Given the description of an element on the screen output the (x, y) to click on. 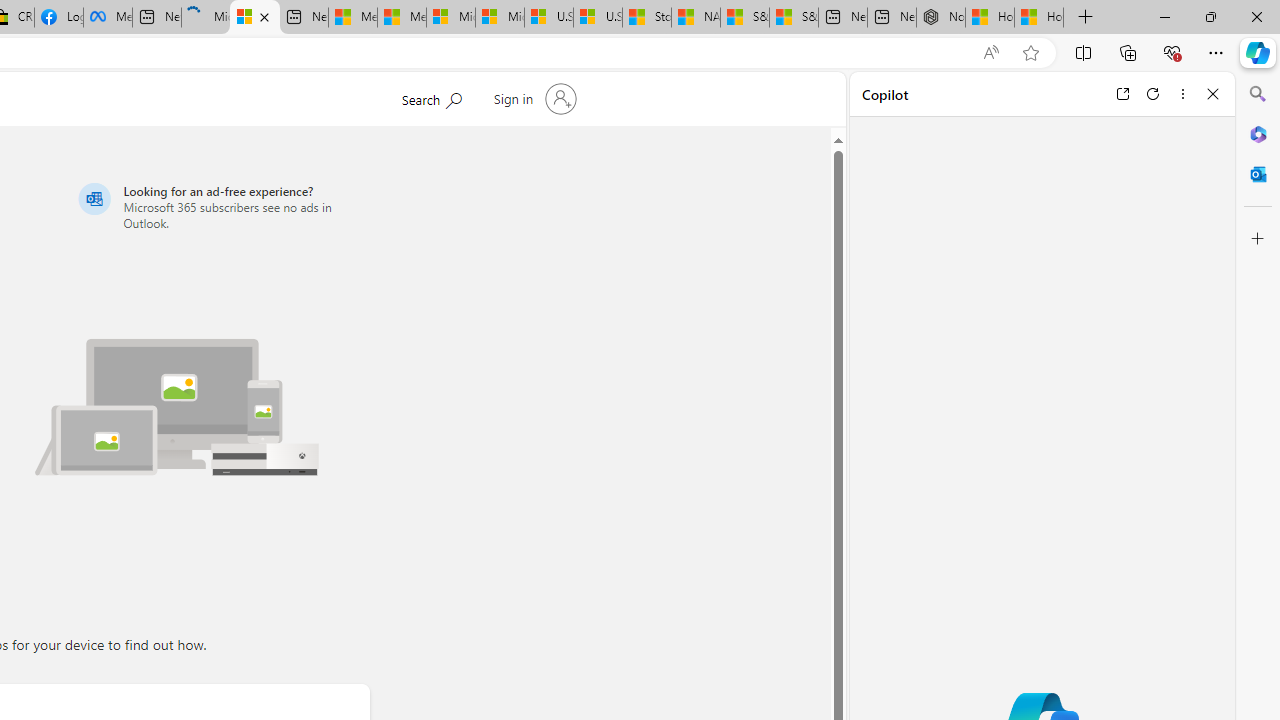
Search Microsoft.com (431, 97)
Sign in to your account (532, 98)
